Given the description of an element on the screen output the (x, y) to click on. 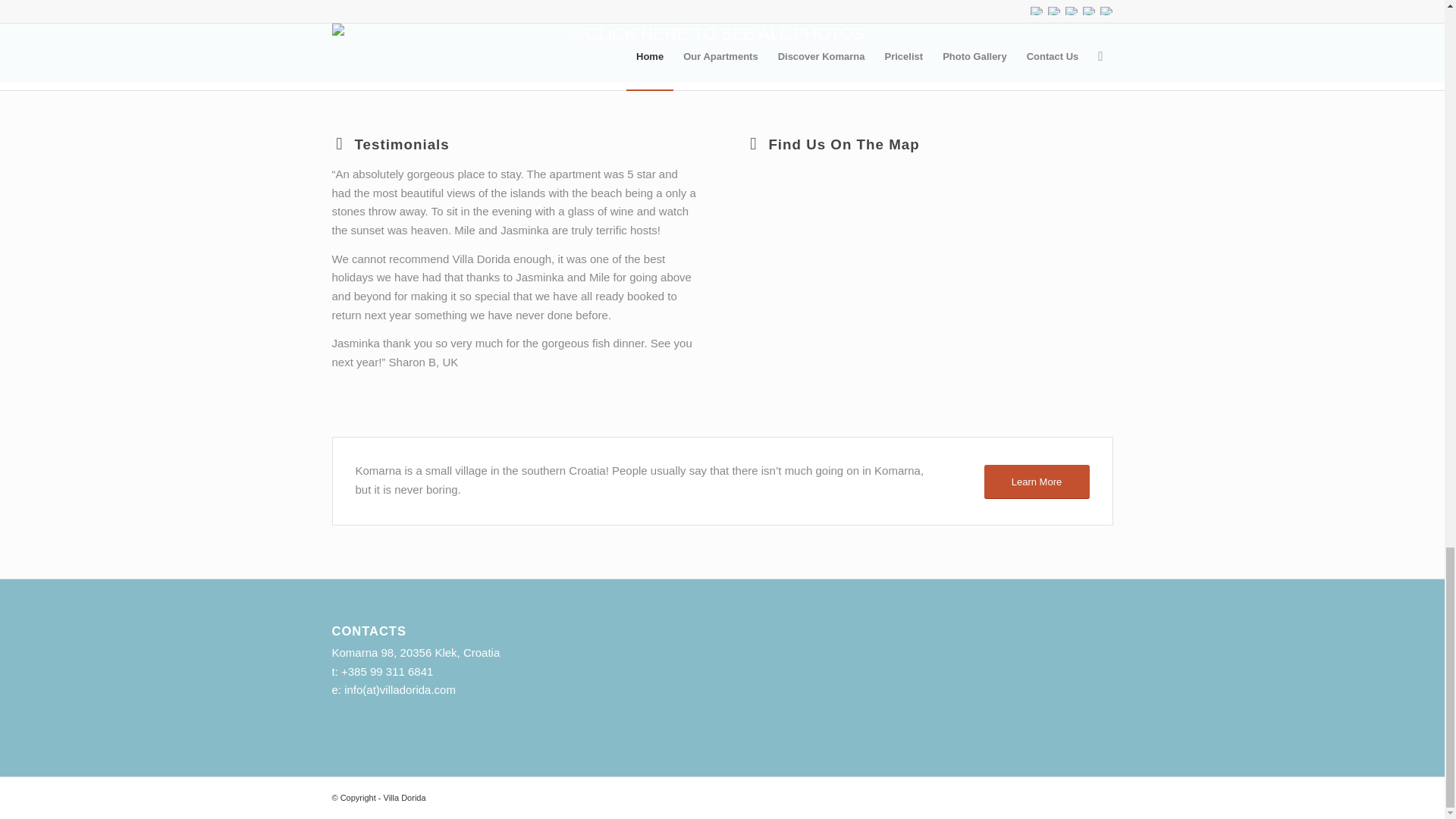
Learn More (1036, 481)
